Given the description of an element on the screen output the (x, y) to click on. 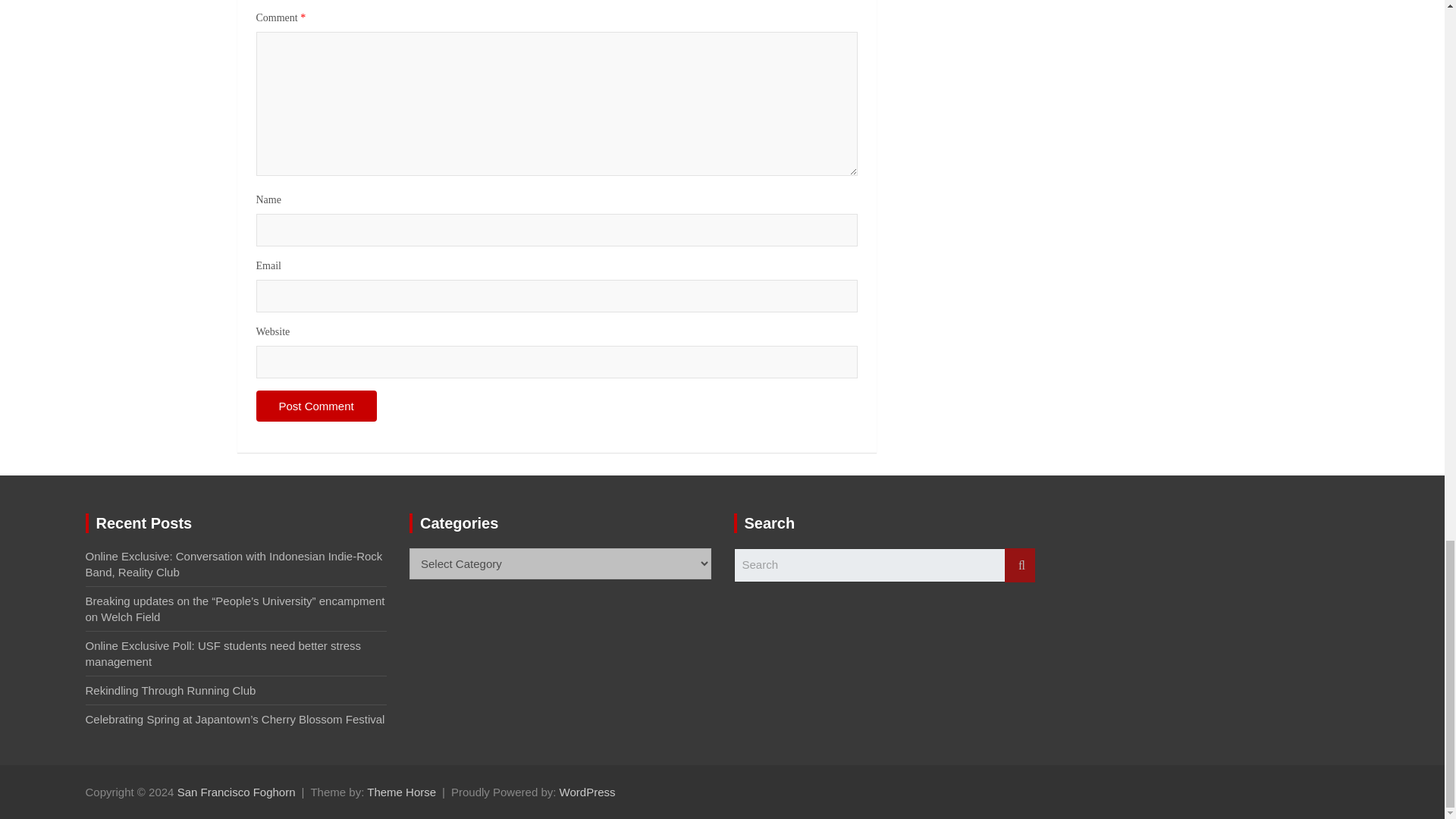
San Francisco Foghorn (236, 791)
WordPress (587, 791)
Post Comment (316, 405)
Theme Horse (400, 791)
